Given the description of an element on the screen output the (x, y) to click on. 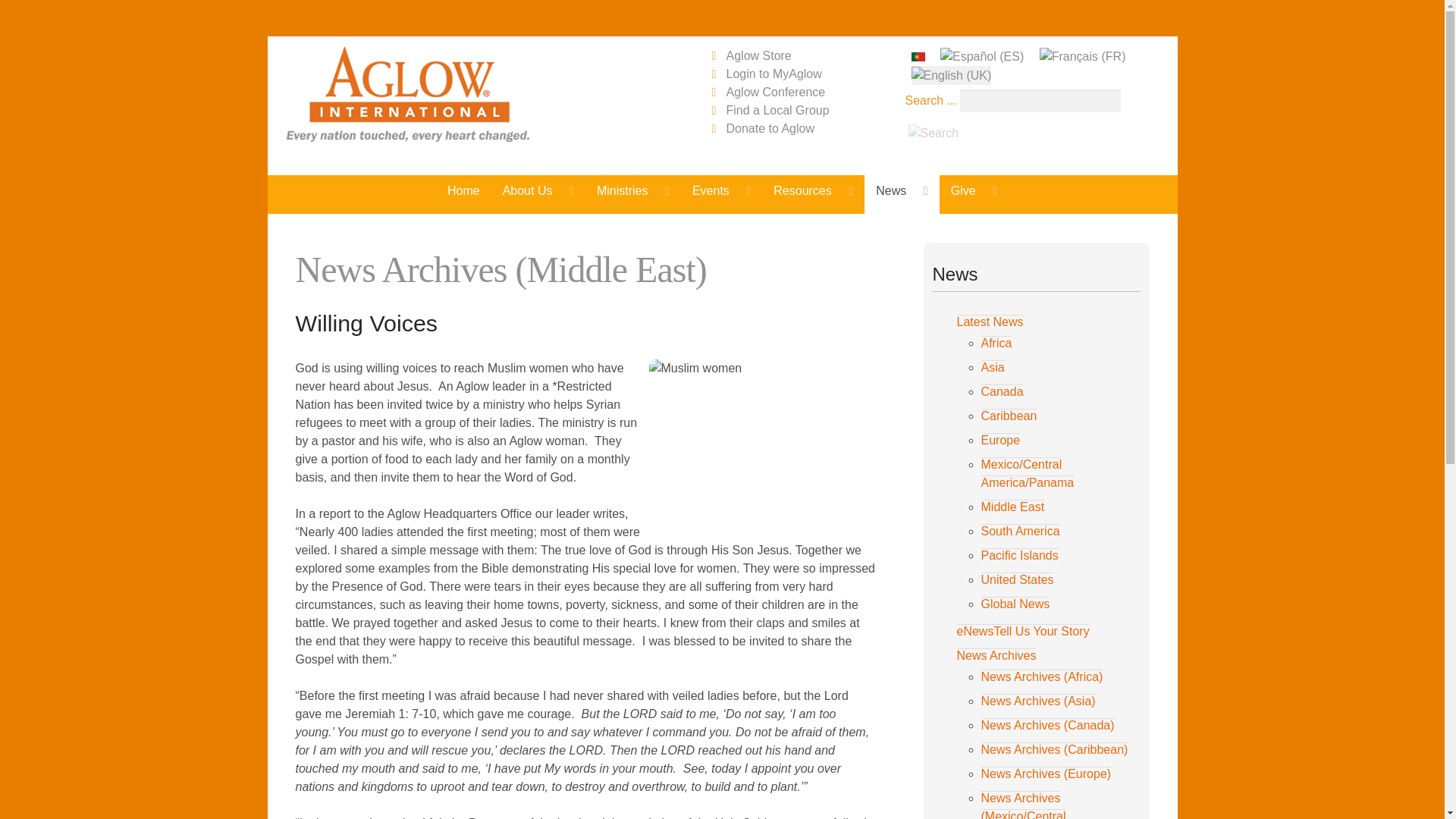
Find a Local Group (777, 110)
Donate to Aglow (770, 128)
Aglow Store (759, 55)
Aglow Store (759, 55)
About Us (538, 190)
Login to MyAglow (774, 73)
Aglow Conference (775, 91)
Aglow International (437, 93)
Home (463, 190)
Ministries (633, 190)
